Given the description of an element on the screen output the (x, y) to click on. 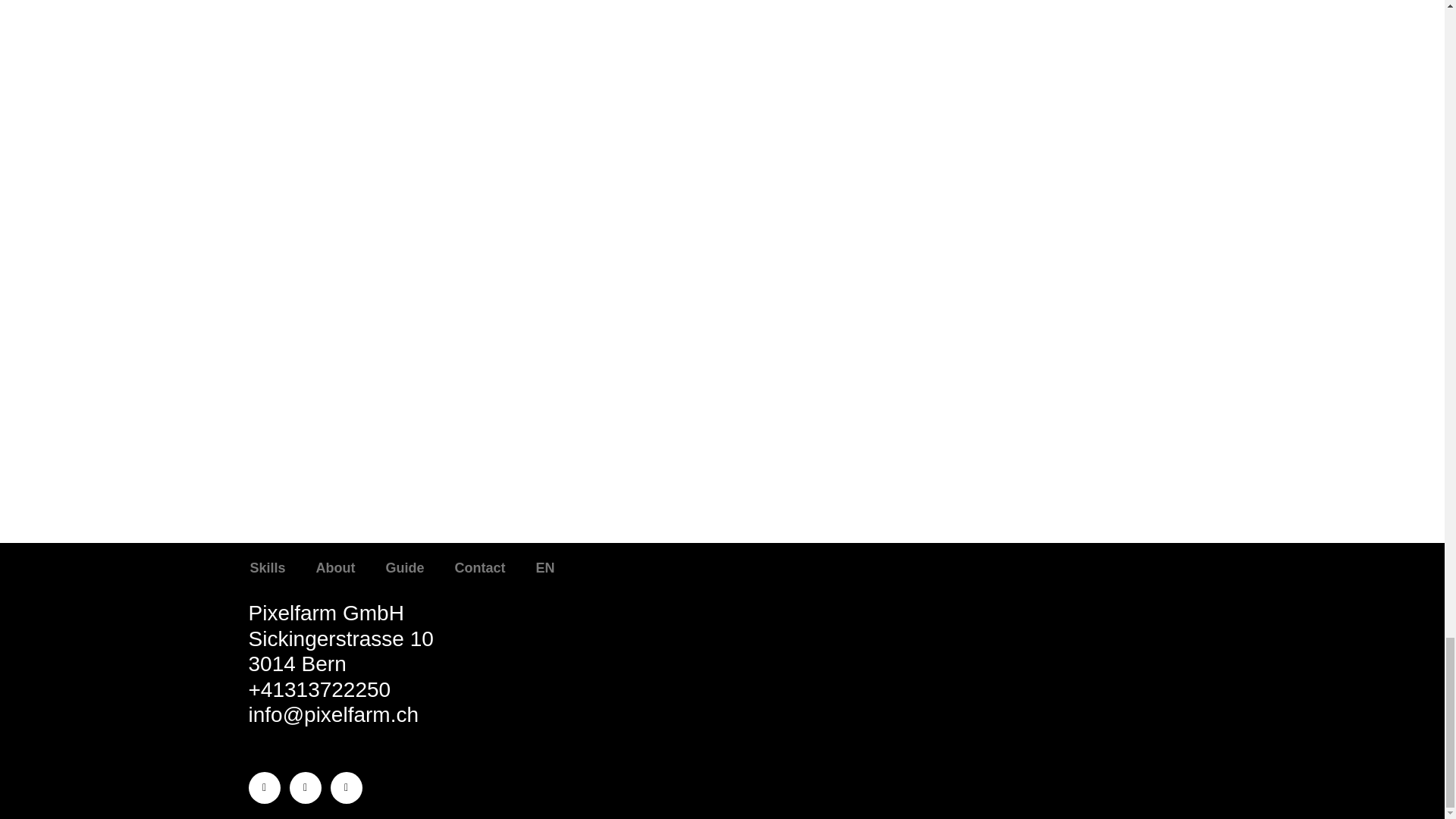
Contact (480, 567)
About (336, 567)
English (545, 567)
Skills (267, 567)
EN (545, 567)
Guide (405, 567)
